Given the description of an element on the screen output the (x, y) to click on. 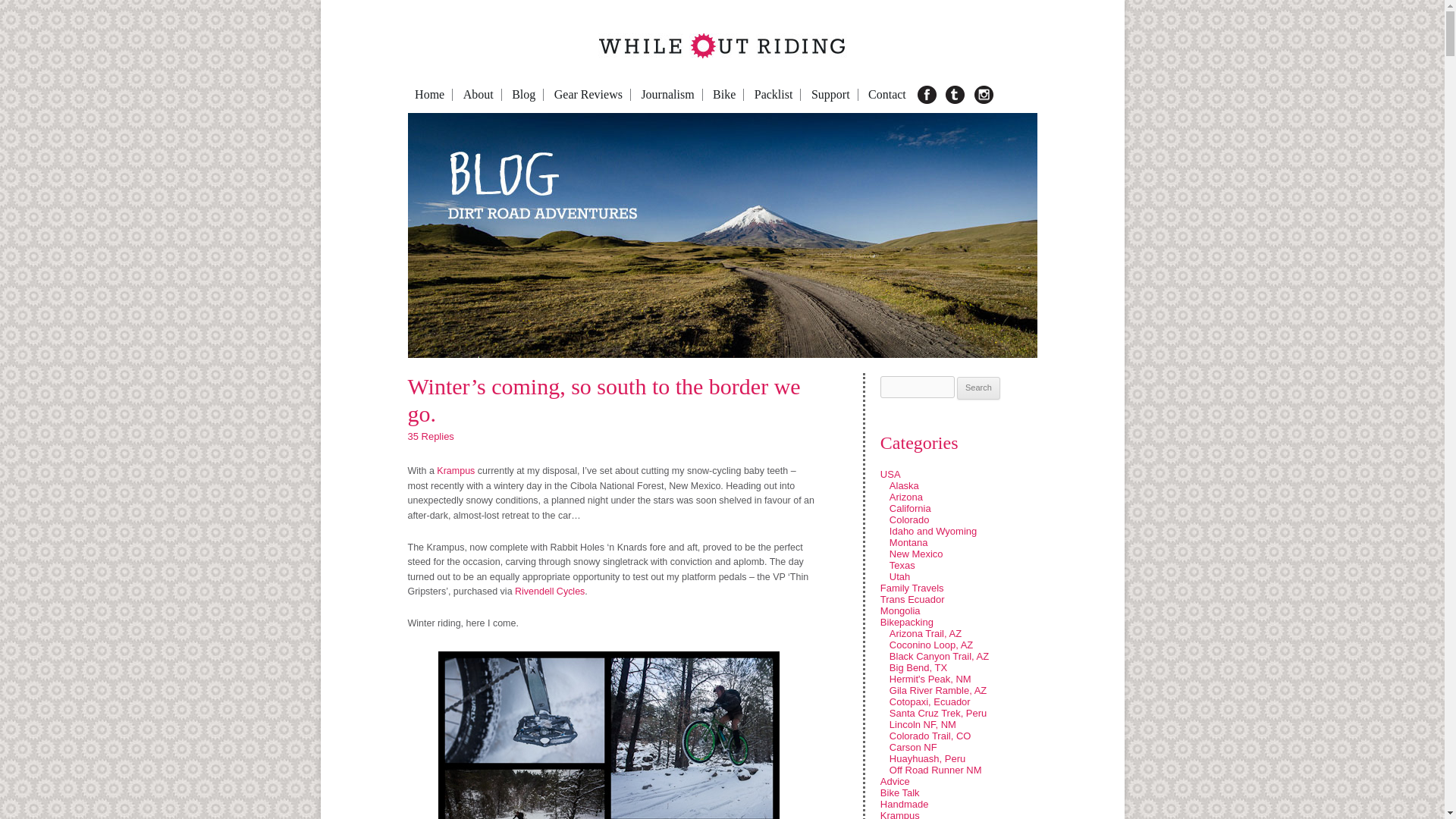
Journalism (667, 94)
View all posts filed under Montana (908, 542)
Krampus (456, 470)
View all posts filed under New Mexico (916, 553)
Bike (724, 94)
View all posts filed under Idaho and Wyoming (932, 531)
Home (429, 94)
35 Replies (430, 436)
Packlist (774, 94)
View all posts filed under Texas (902, 564)
Menu Item (1004, 94)
View all posts filed under Alaska (903, 485)
While Out Riding (399, 73)
Blog (523, 94)
